Given the description of an element on the screen output the (x, y) to click on. 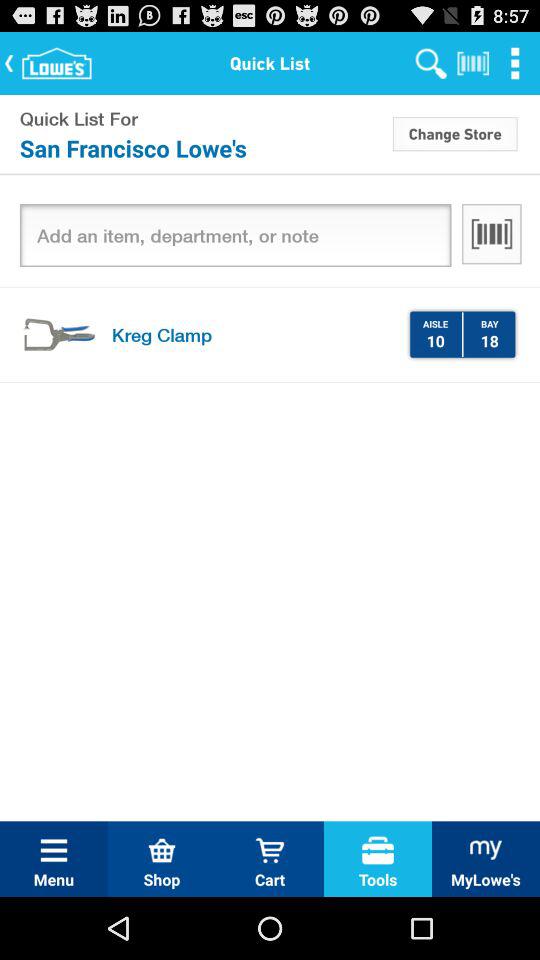
flip to the 18 (489, 340)
